Given the description of an element on the screen output the (x, y) to click on. 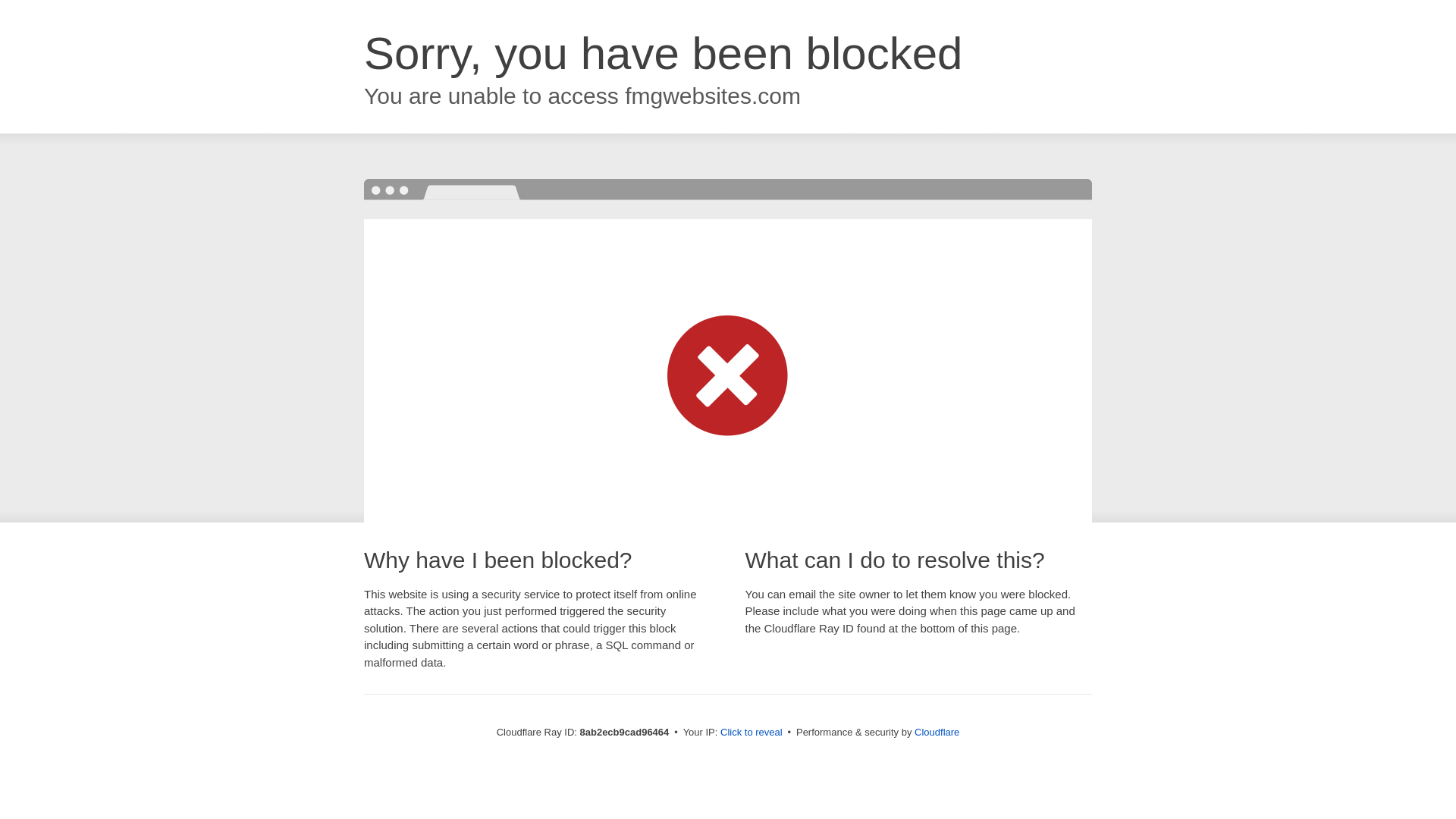
Click to reveal (751, 732)
Cloudflare (936, 731)
